Given the description of an element on the screen output the (x, y) to click on. 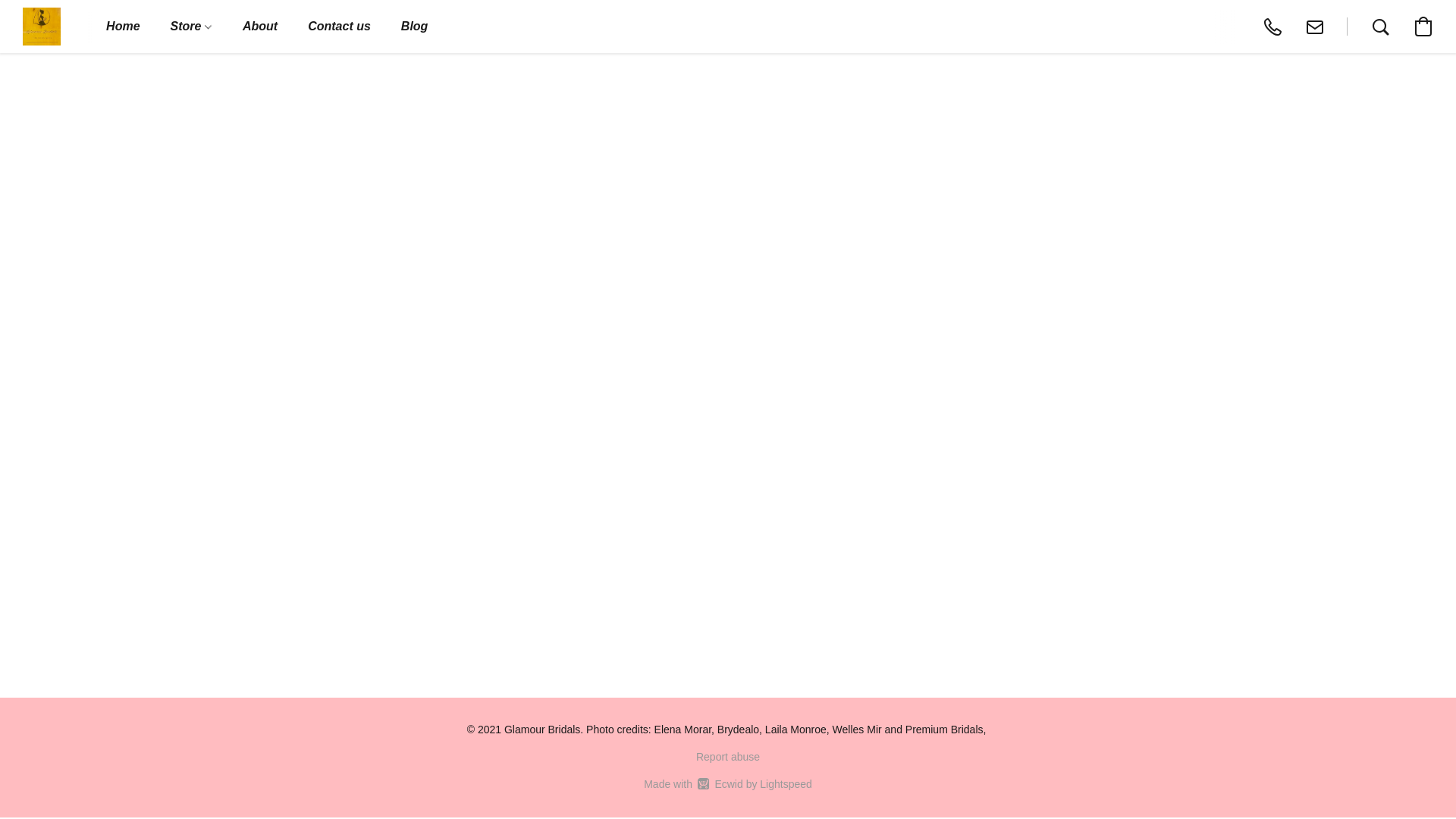
734-224-7045 (1272, 26)
Search the website (1380, 25)
Store (191, 26)
Home (122, 26)
Contact us (338, 26)
About (259, 26)
Report abuse (727, 756)
Blog (414, 26)
Go to your shopping cart (727, 783)
